Given the description of an element on the screen output the (x, y) to click on. 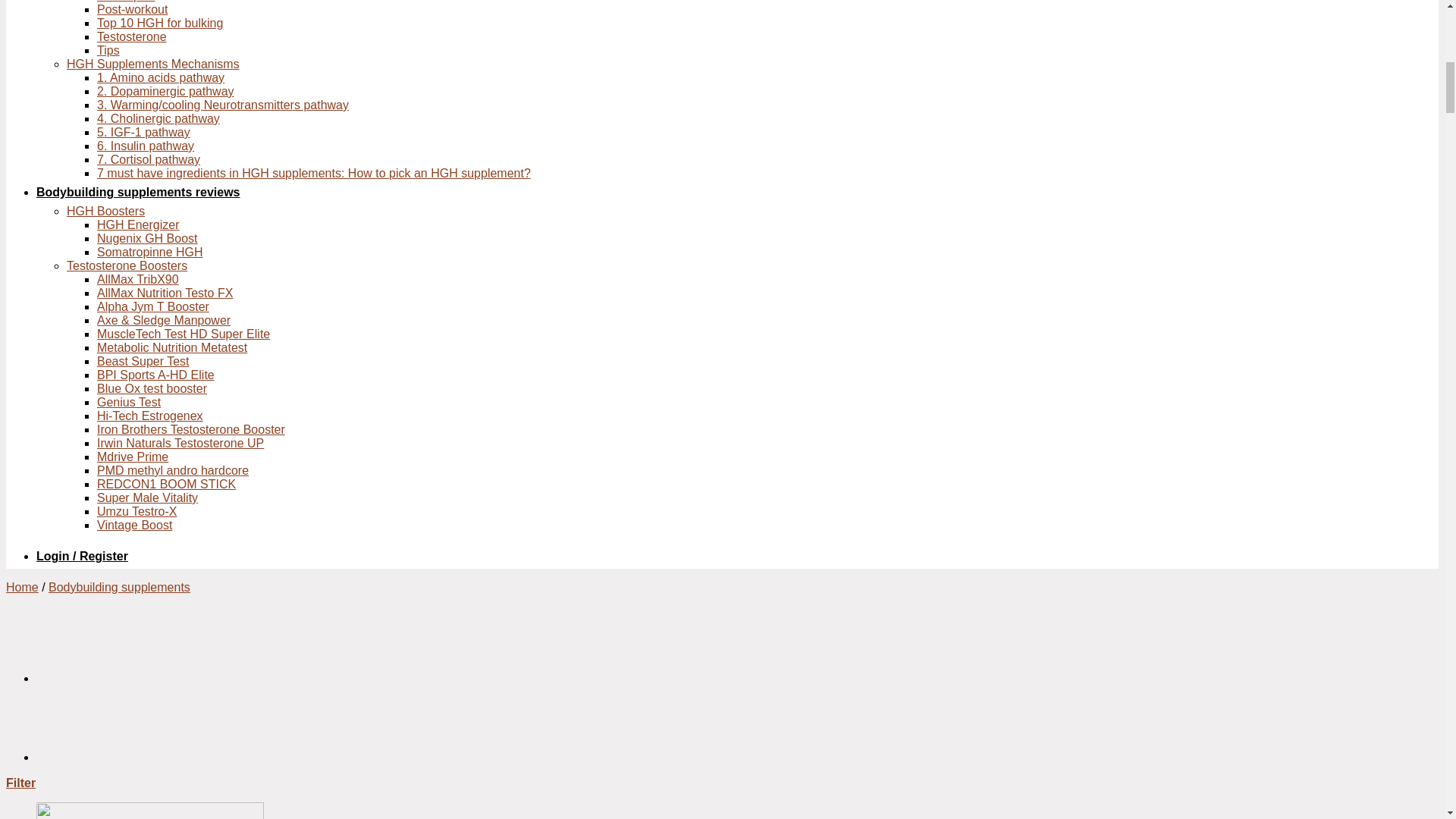
BSN hyper fx (74, 757)
jacked-factory-altius-review-300x190 (149, 810)
Jacked factory Nitrosurge Shred review (74, 677)
